Given the description of an element on the screen output the (x, y) to click on. 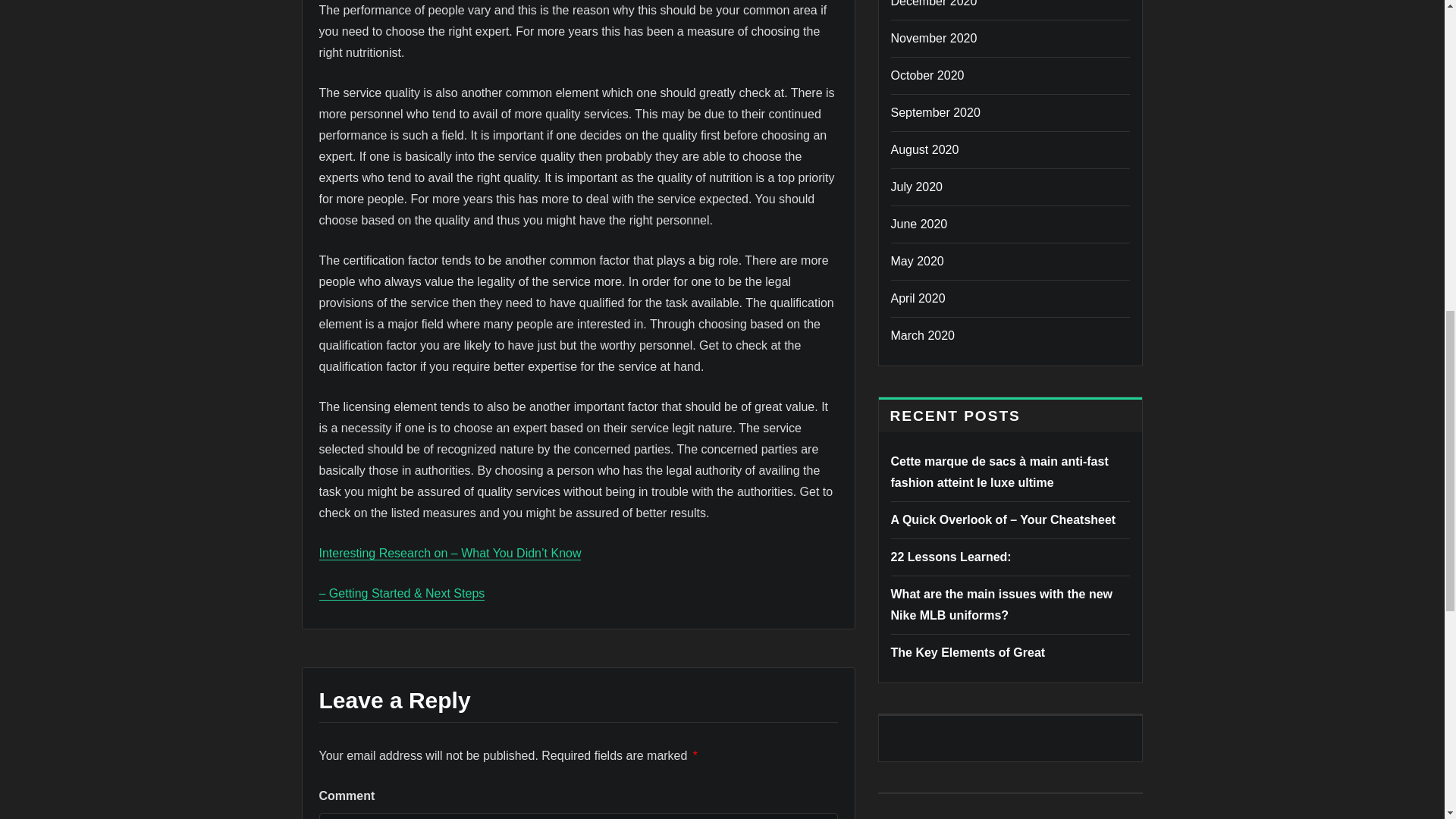
August 2020 (923, 149)
September 2020 (934, 112)
July 2020 (915, 186)
December 2020 (932, 3)
March 2020 (922, 335)
October 2020 (926, 74)
April 2020 (916, 297)
June 2020 (918, 223)
November 2020 (932, 38)
May 2020 (916, 260)
